Given the description of an element on the screen output the (x, y) to click on. 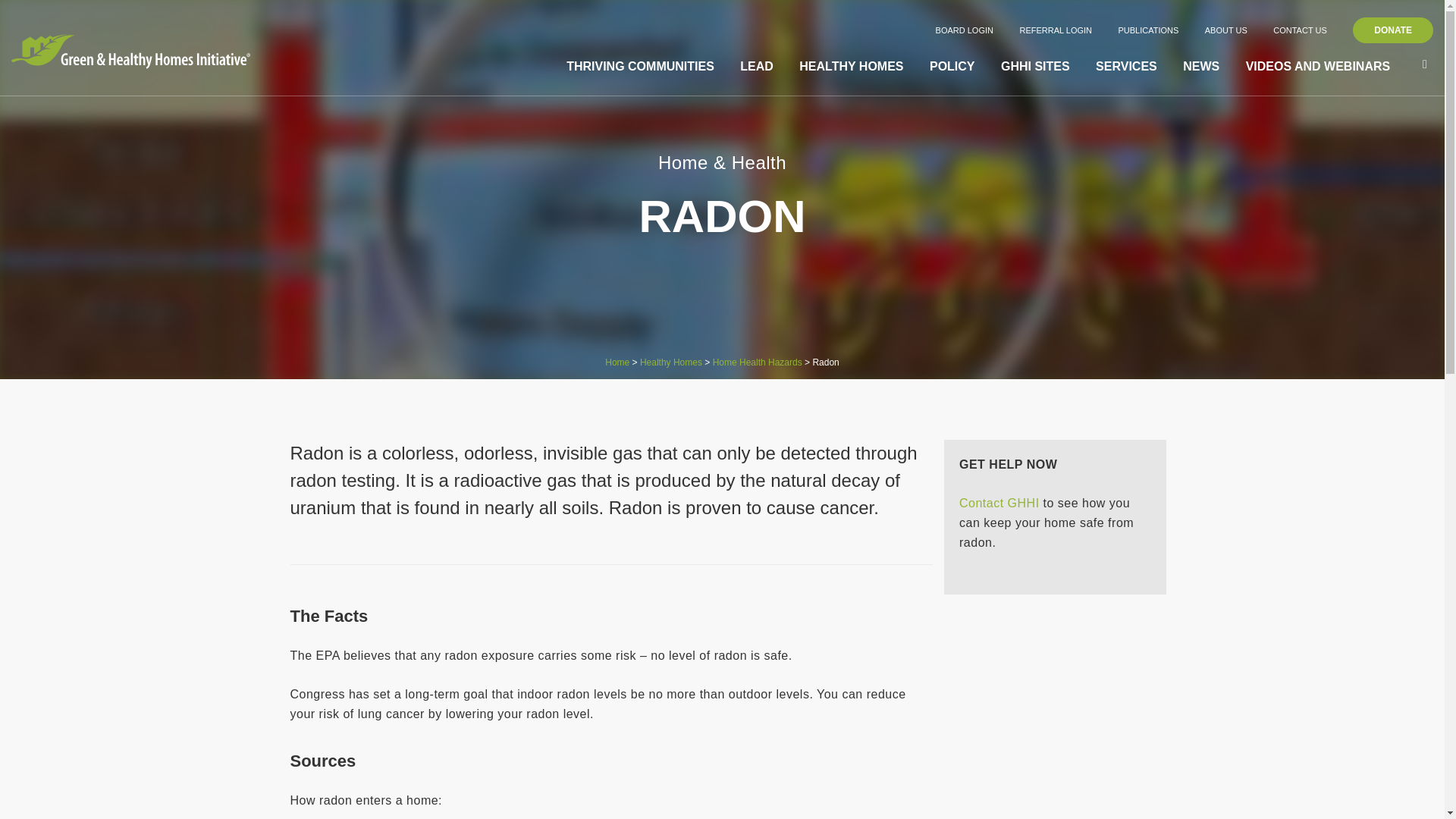
HEALTHY HOMES (850, 66)
SERVICES (1126, 66)
ABOUT US (1226, 30)
Go to Healthy Homes. (670, 362)
CONTACT US (1299, 30)
Go to Home Health Hazards. (757, 362)
POLICY (952, 66)
PUBLICATIONS (1147, 30)
BOARD LOGIN (964, 30)
DONATE (1392, 30)
